Given the description of an element on the screen output the (x, y) to click on. 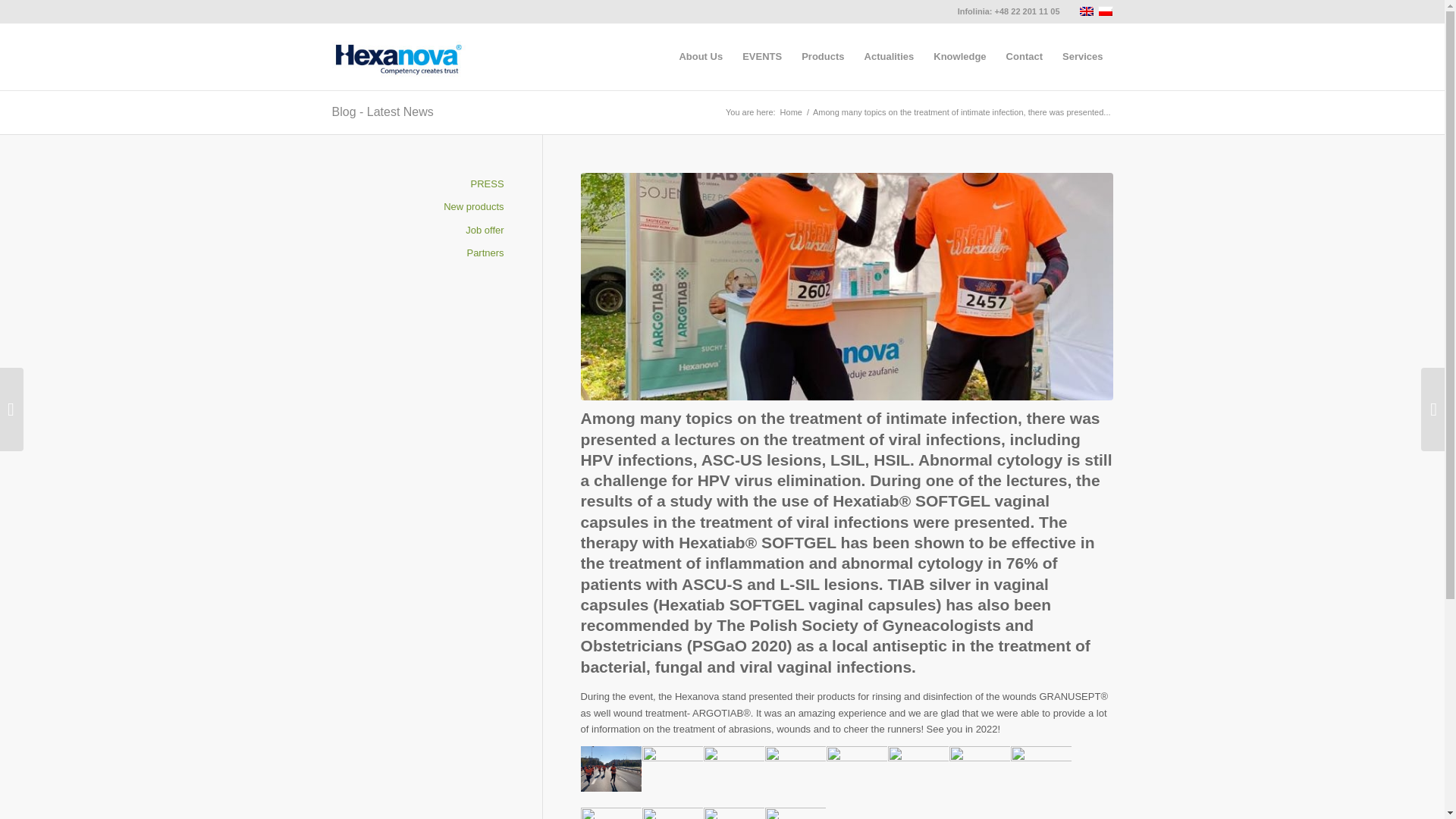
Home (791, 112)
hexanova (398, 56)
polski (1105, 10)
Knowledge (959, 56)
About Us (700, 56)
Services (1082, 56)
Blog - Latest News (382, 111)
English (1085, 10)
Produkty (1082, 56)
Actualities (889, 56)
